Given the description of an element on the screen output the (x, y) to click on. 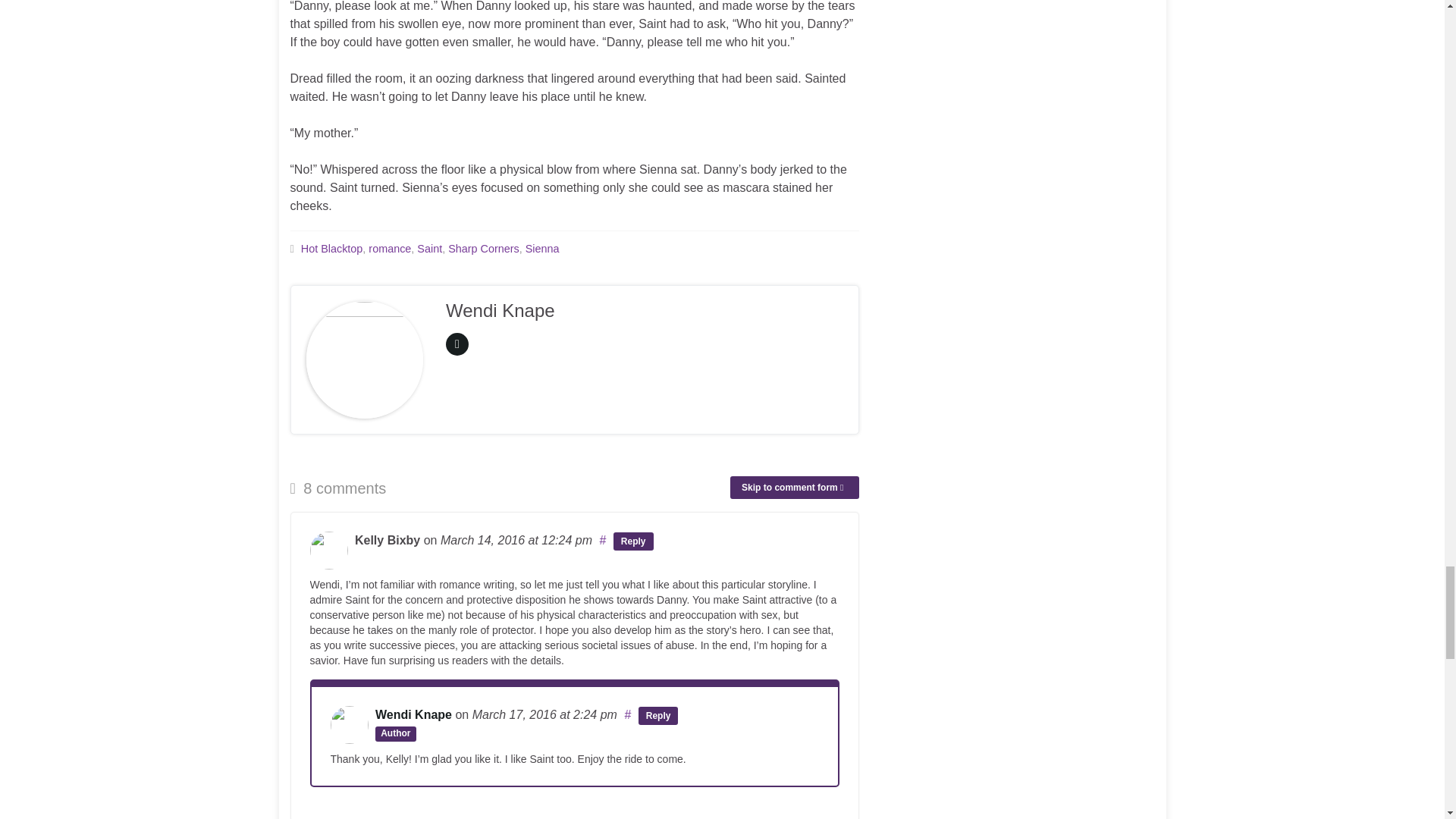
Sienna (542, 248)
Wendi Knape (413, 714)
romance (389, 248)
Sharp Corners (483, 248)
Reply (632, 541)
Hot Blacktop (331, 248)
Reply (658, 715)
Saint (429, 248)
Skip to comment form (794, 486)
